Given the description of an element on the screen output the (x, y) to click on. 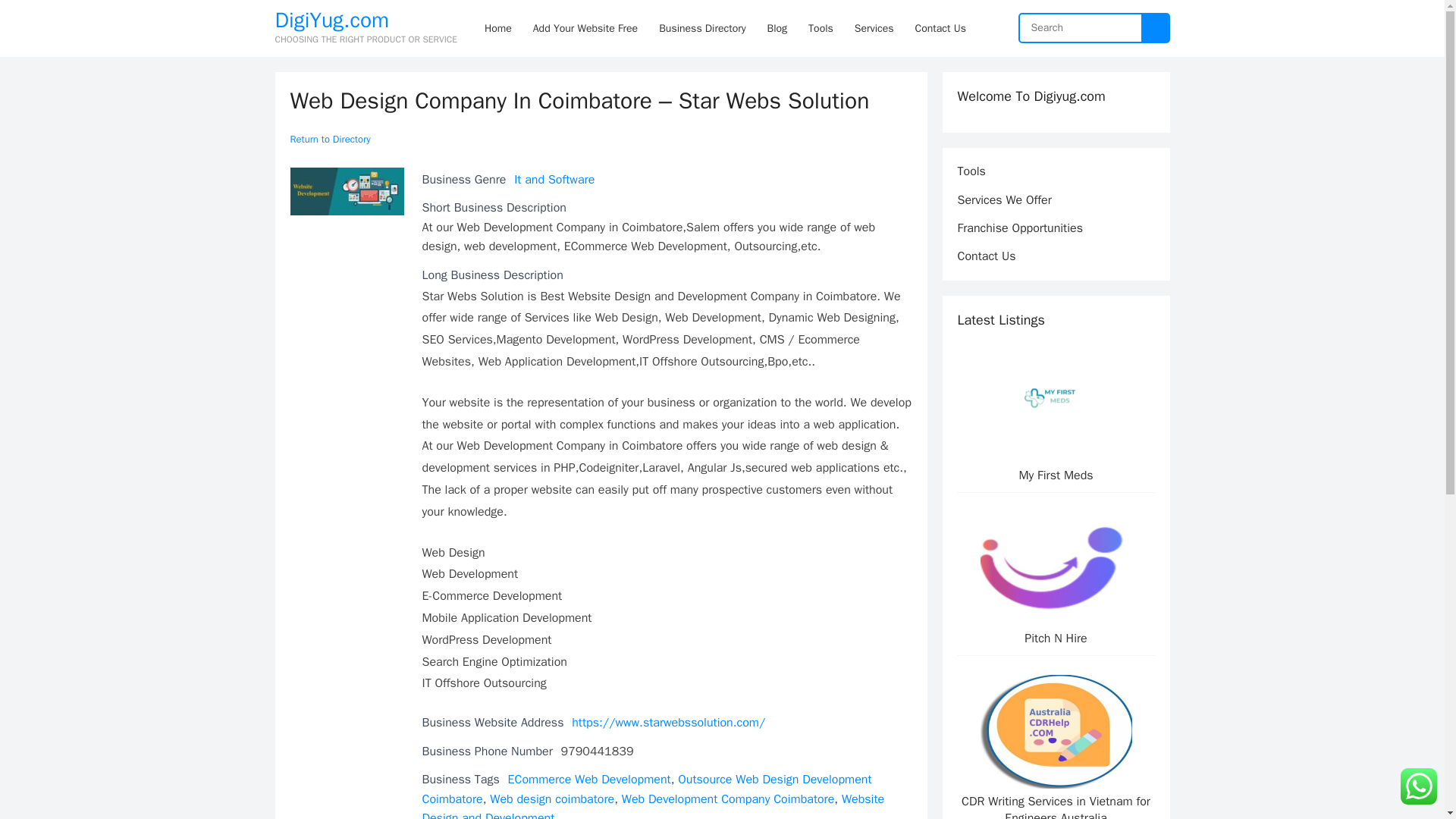
Services (873, 28)
Outsource Web Design Development Coimbatore (646, 789)
Web Development Company Coimbatore (727, 798)
Add Your Website Free (585, 28)
Services We Offer (1003, 200)
Contact Us (985, 255)
Web design coimbatore (551, 798)
Tools (970, 171)
Website Design and Development (652, 805)
DigiYug.com (366, 20)
